Given the description of an element on the screen output the (x, y) to click on. 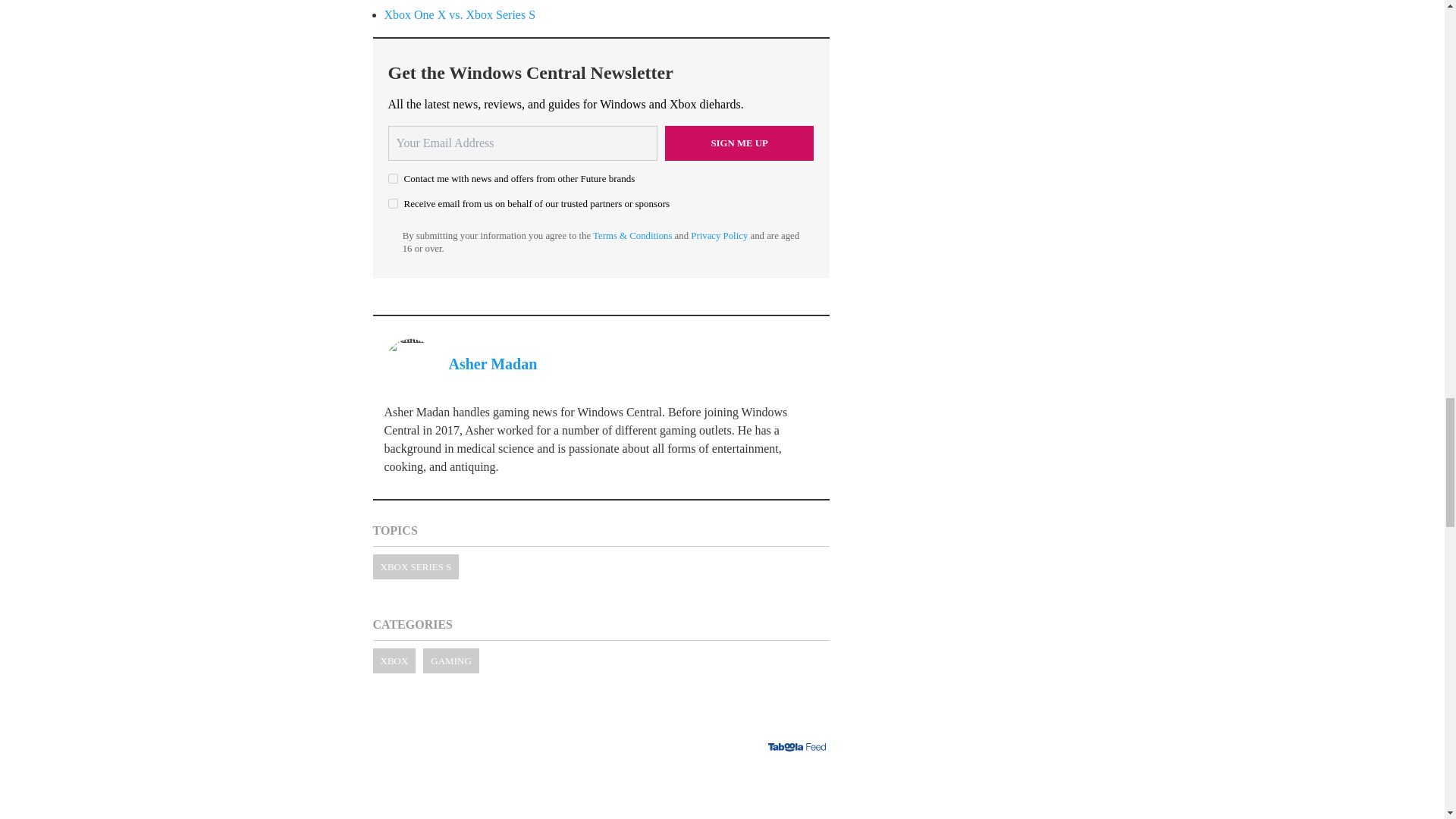
on (392, 203)
Sign me up (739, 143)
on (392, 178)
If you own a mouse, play it for 1 minute. (600, 790)
